Given the description of an element on the screen output the (x, y) to click on. 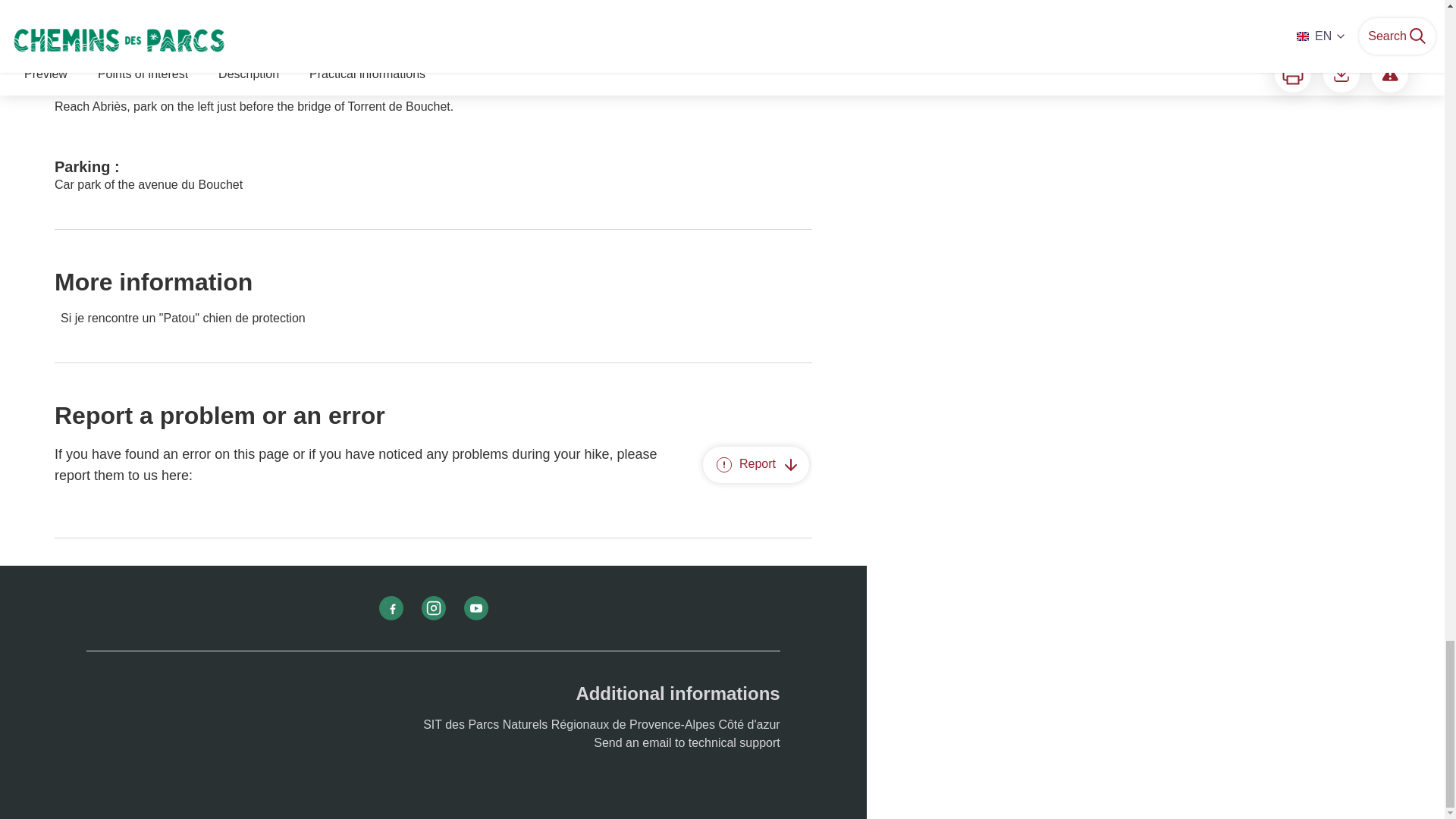
Si je rencontre un "Patou" chien de protection (433, 317)
Send an email to technical support (686, 742)
Report (756, 464)
